Given the description of an element on the screen output the (x, y) to click on. 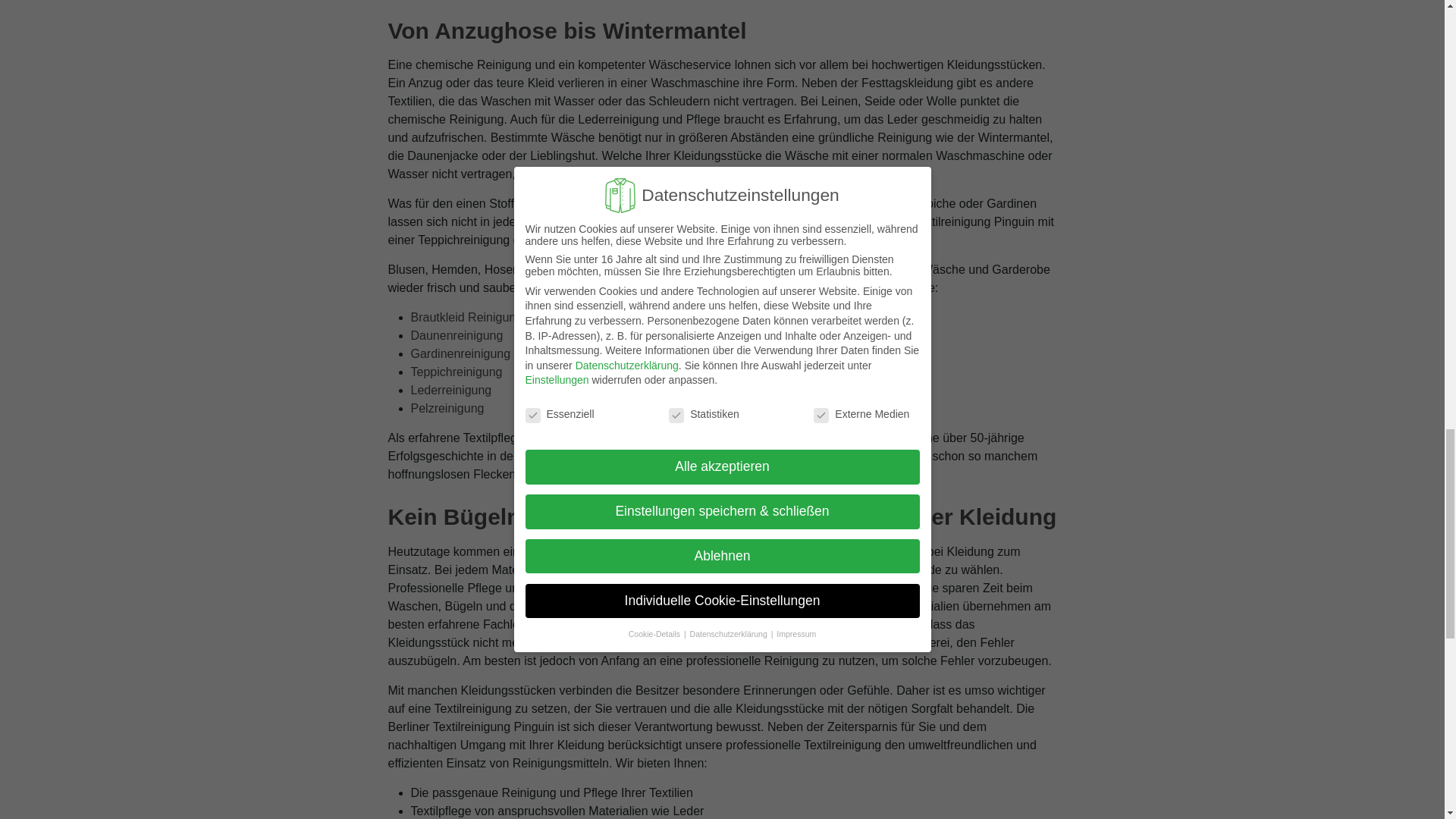
Brautkleid Reinigung (466, 317)
Teppichreinigung (456, 371)
Gardinenreinigung (460, 353)
Lederreinigung (451, 390)
Pelzreinigung (447, 408)
Daunenreinigung (456, 335)
